Given the description of an element on the screen output the (x, y) to click on. 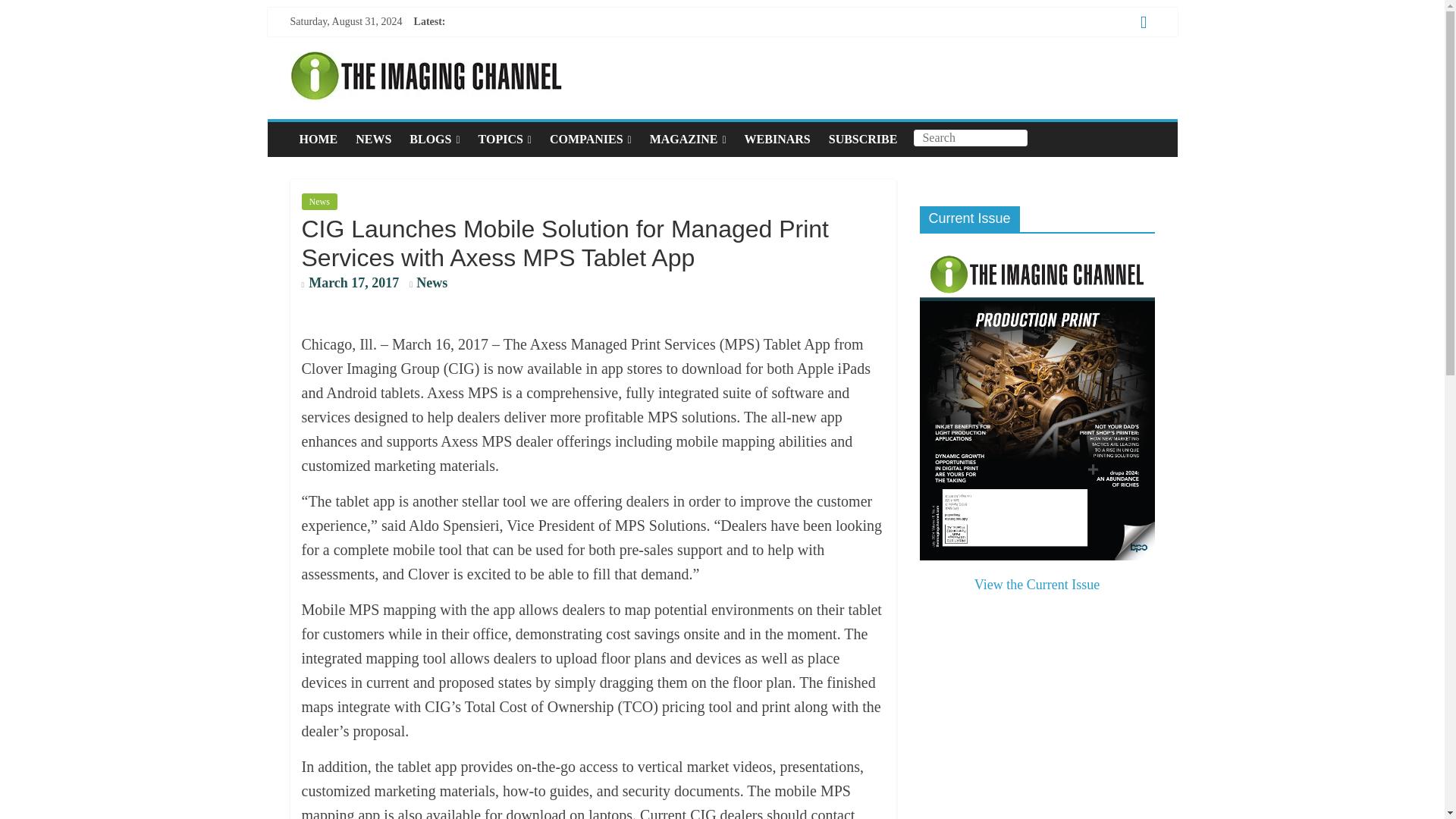
HOME (317, 139)
6:16 pm (349, 284)
BLOGS (434, 139)
TOPICS (504, 139)
News (431, 282)
NEWS (373, 139)
COMPANIES (590, 139)
